Given the description of an element on the screen output the (x, y) to click on. 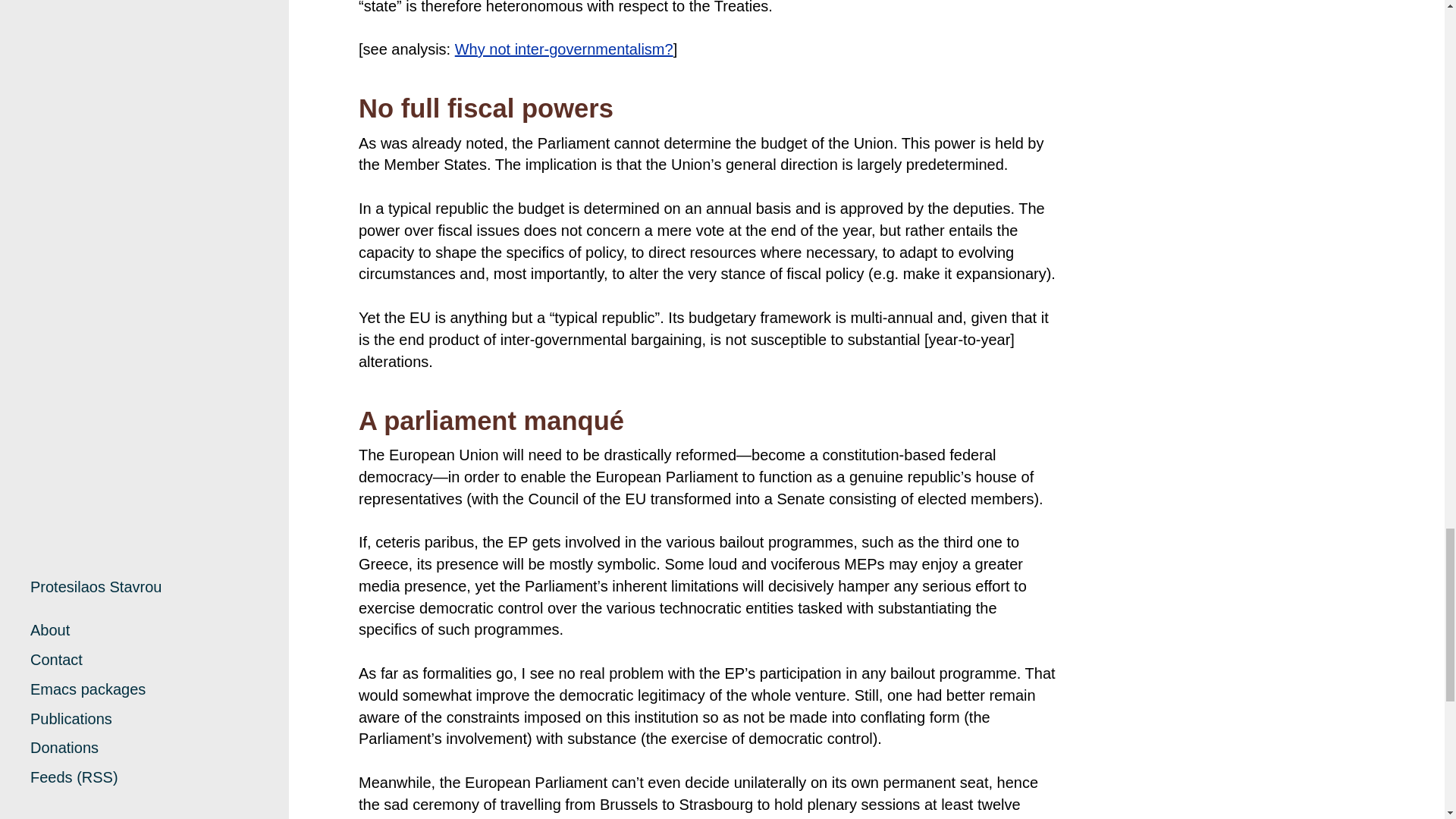
Why not inter-governmentalism? (563, 48)
